Given the description of an element on the screen output the (x, y) to click on. 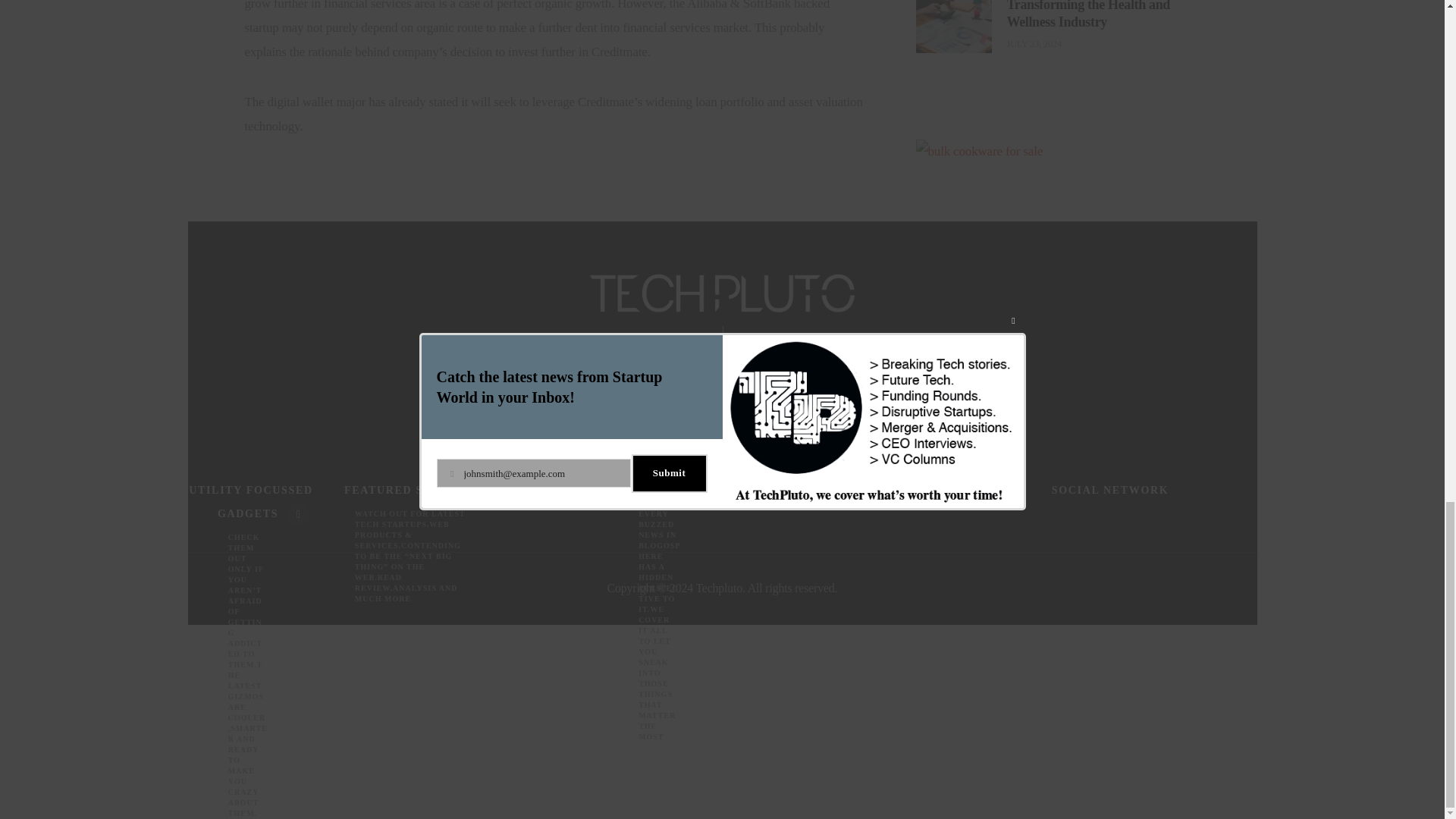
Get the latest kitchen gadgets (979, 119)
